Given the description of an element on the screen output the (x, y) to click on. 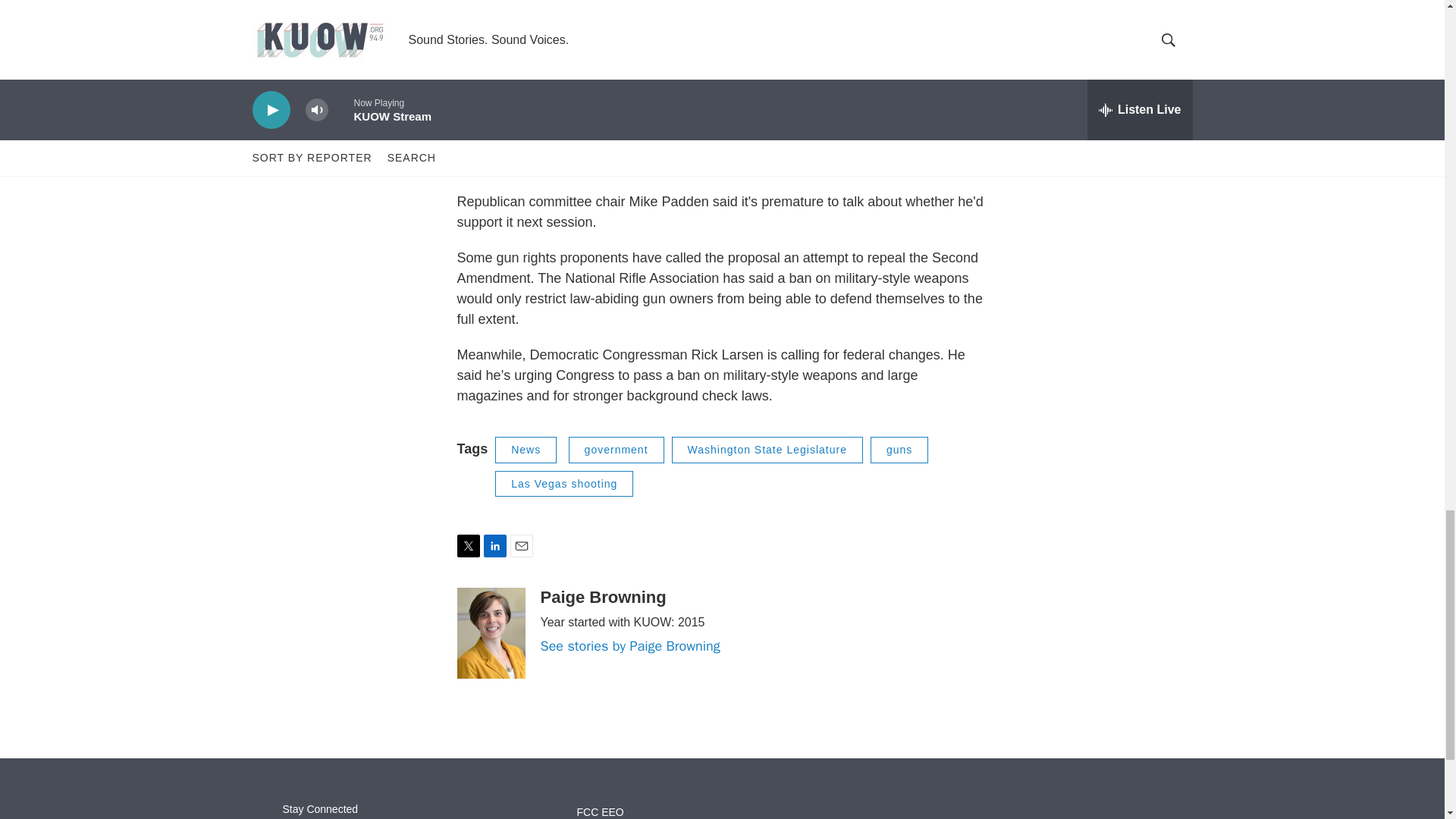
Washington State Legislature (767, 449)
Email (520, 545)
guns (899, 449)
Paige Browning (602, 597)
News (525, 449)
government (616, 449)
LinkedIn (494, 545)
Las Vegas shooting (564, 483)
See stories by Paige Browning (629, 646)
Twitter (468, 545)
